Given the description of an element on the screen output the (x, y) to click on. 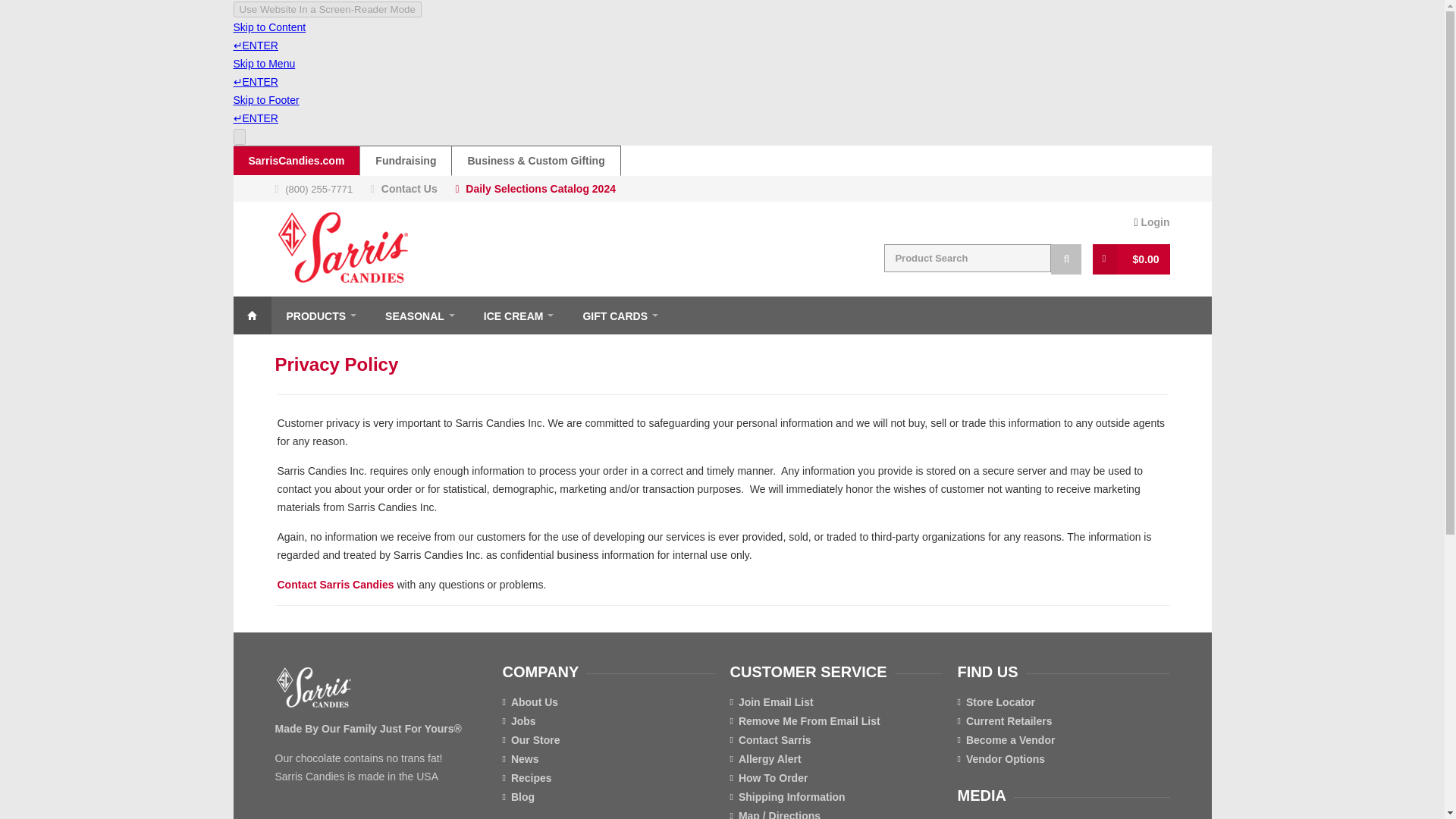
Fundraising (405, 160)
Daily Selections Catalog 2024 (540, 188)
SEASONAL (418, 315)
Contact Us (409, 188)
SarrisCandies.com (296, 160)
HOME (251, 315)
PRODUCTS (320, 315)
